Given the description of an element on the screen output the (x, y) to click on. 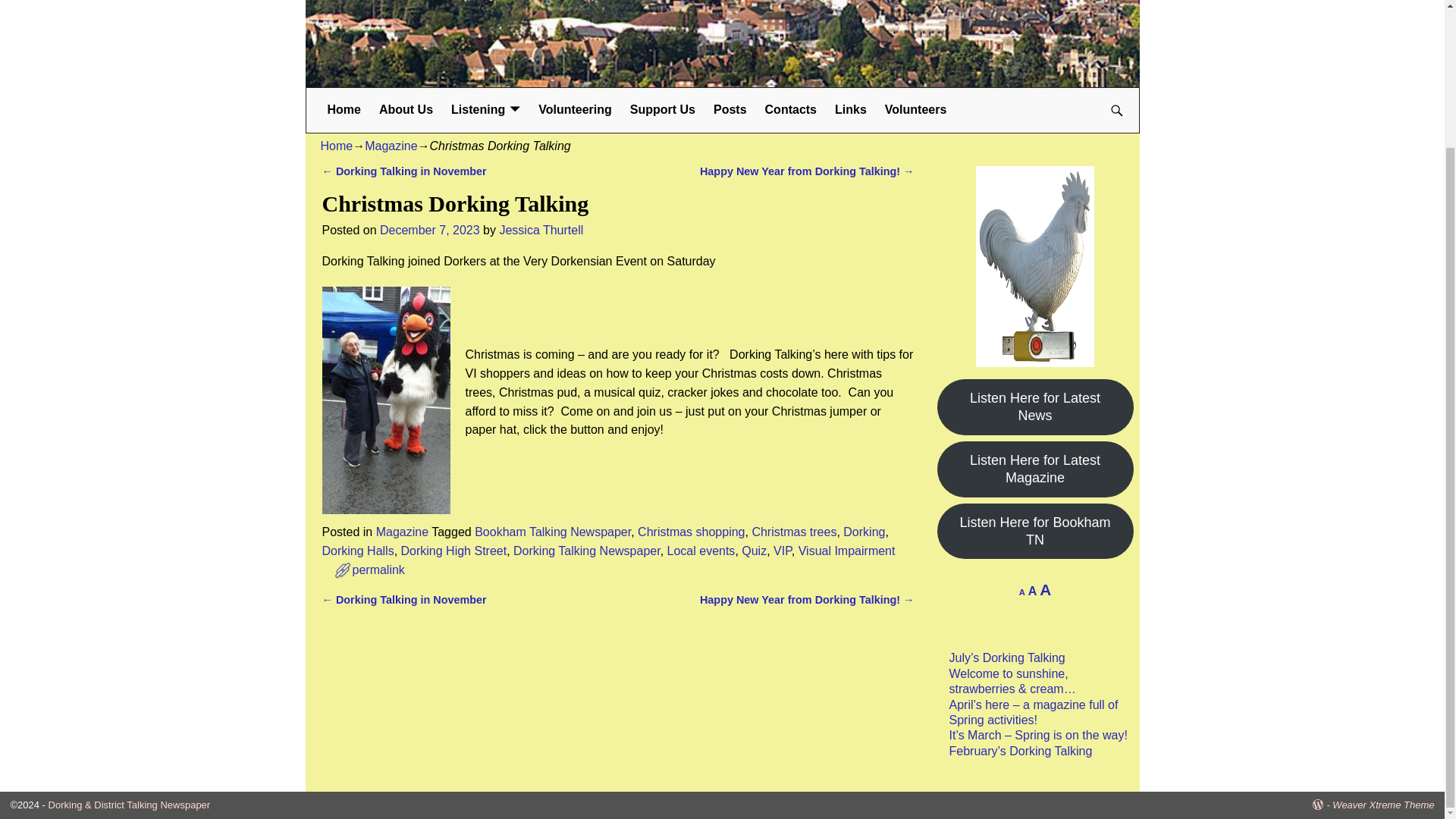
Contacts (790, 110)
Magazine (390, 145)
Magazine (401, 531)
December 7, 2023 (430, 229)
Dorking Halls (357, 550)
Listening (485, 110)
Volunteering (575, 110)
10:57 pm (430, 229)
Christmas shopping (690, 531)
Christmas trees (793, 531)
Home (343, 110)
View all posts by Jessica Thurtell (541, 229)
Links (850, 110)
Weaver Xtreme Theme (1383, 804)
Dorking High Street (453, 550)
